Given the description of an element on the screen output the (x, y) to click on. 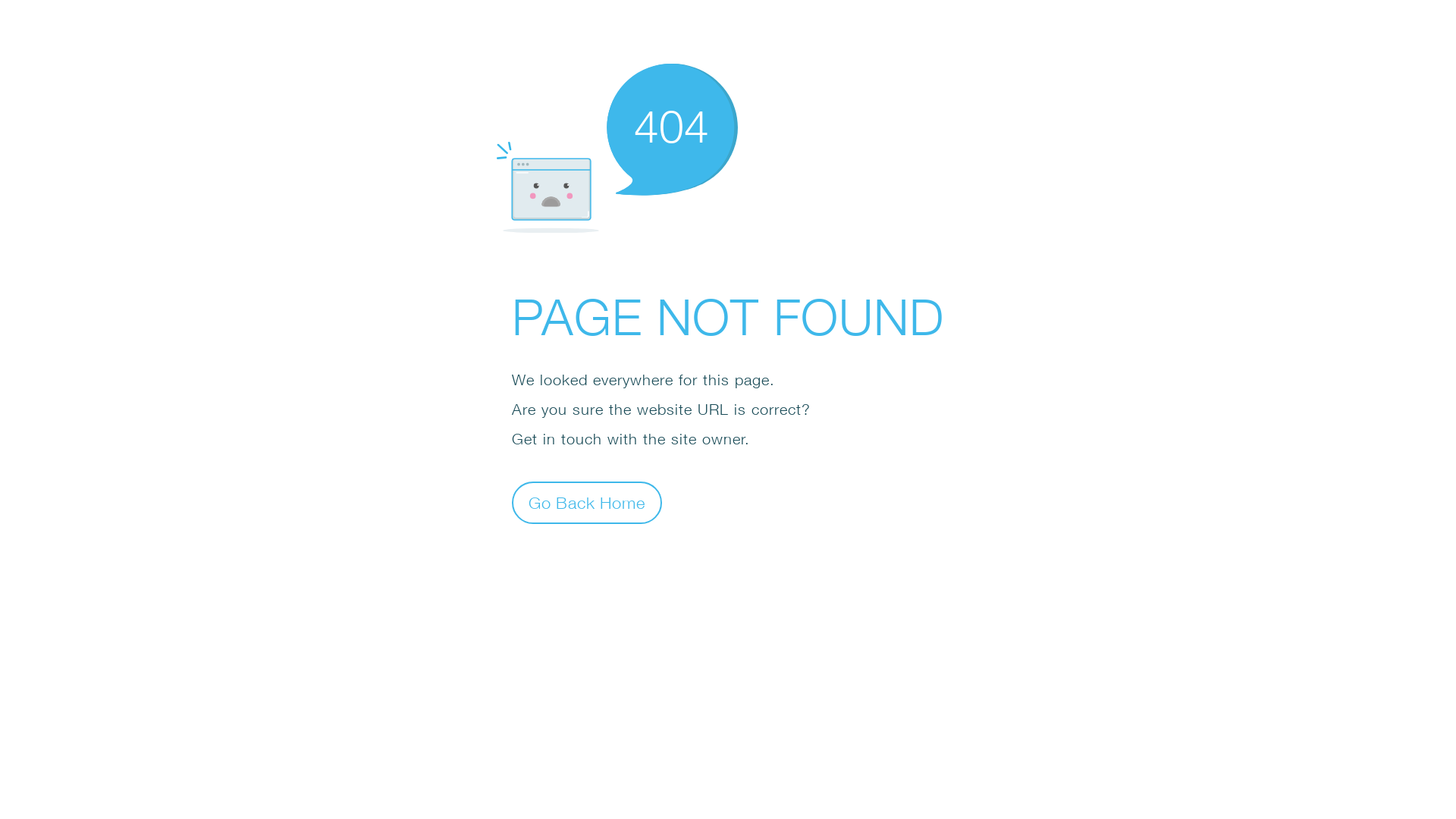
Go Back Home Element type: text (586, 502)
